Given the description of an element on the screen output the (x, y) to click on. 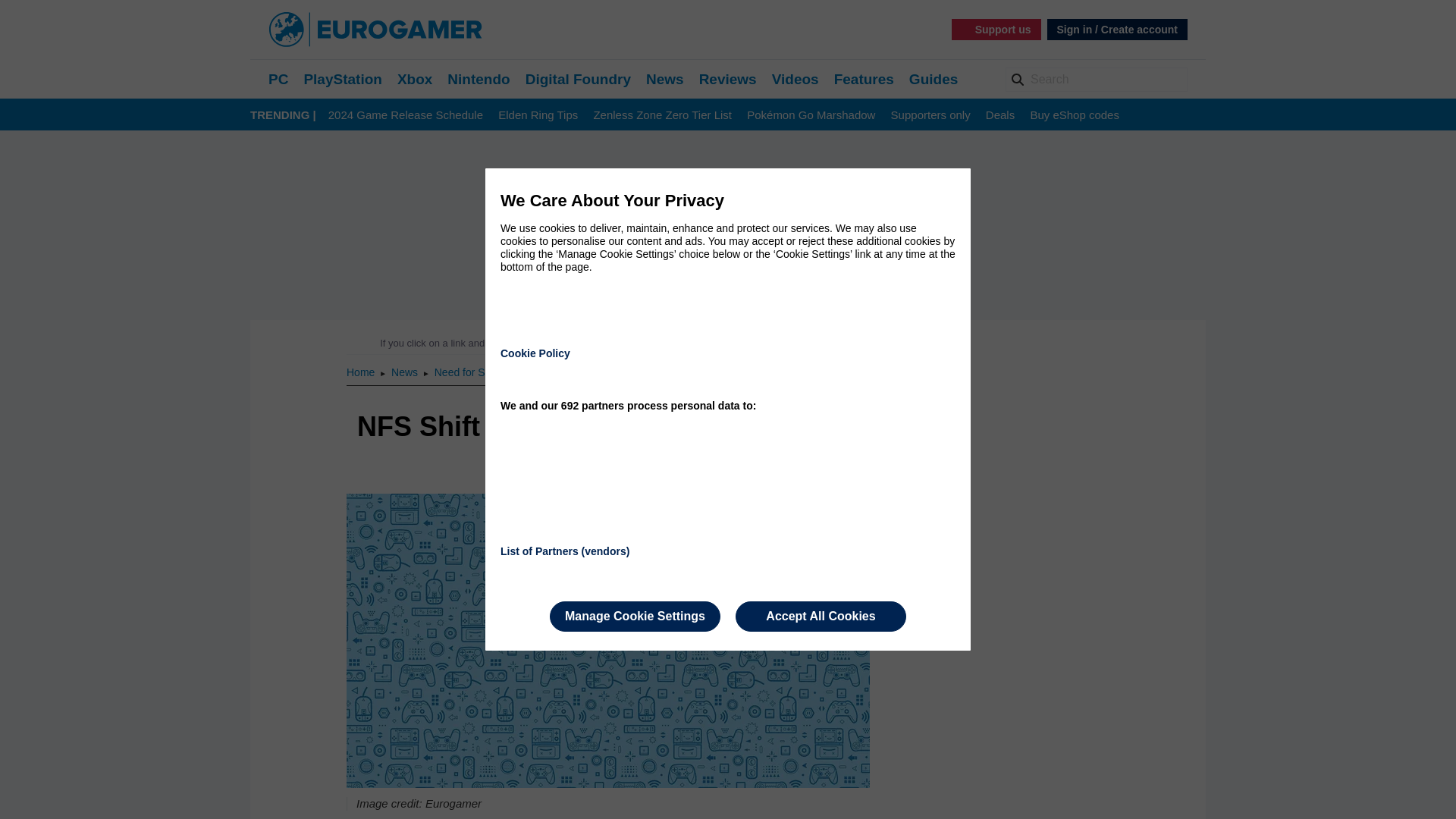
Support us (996, 29)
Zenless Zone Zero Tier List (662, 114)
Reviews (727, 78)
Read our editorial policy (781, 342)
PlayStation (341, 78)
Xbox (414, 78)
Need for Speed: SHIFT (488, 372)
Digital Foundry (577, 78)
Guides (933, 78)
Elden Ring Tips (537, 114)
Elden Ring Tips (537, 114)
Deals (999, 114)
PlayStation (341, 78)
Supporters only (931, 114)
Features (863, 78)
